Given the description of an element on the screen output the (x, y) to click on. 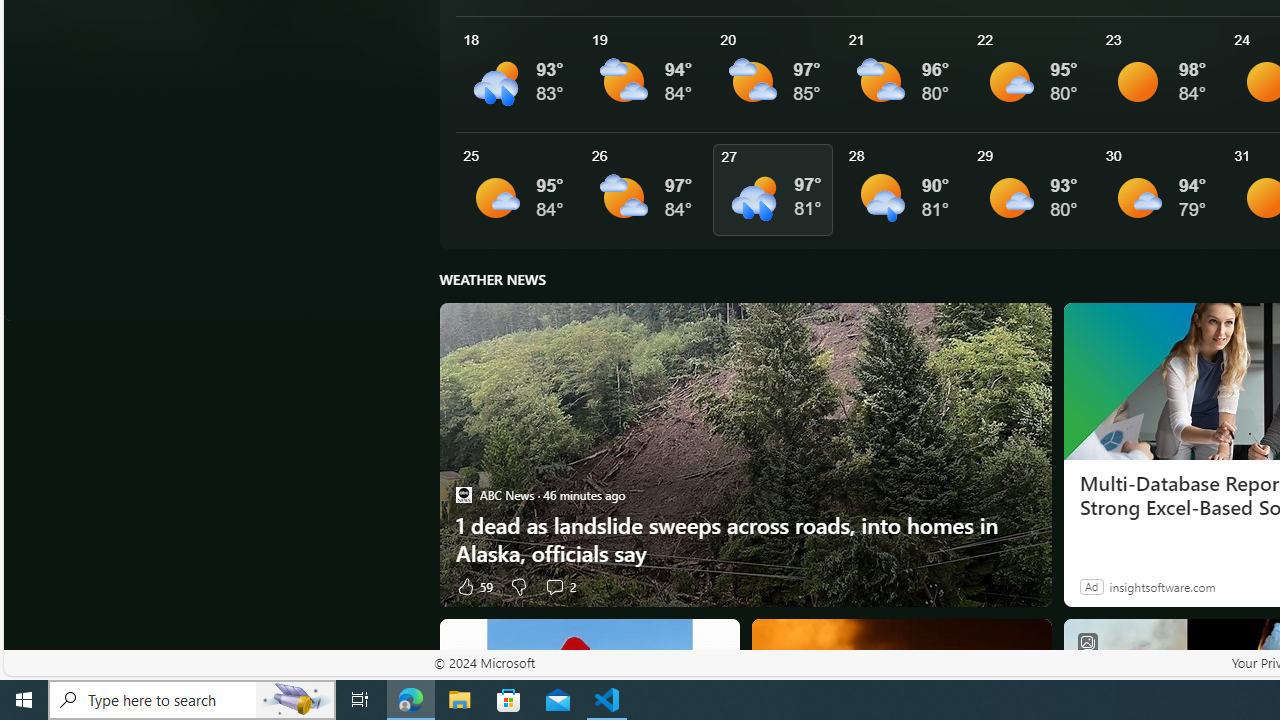
insightsoftware.com (1162, 586)
